Given the description of an element on the screen output the (x, y) to click on. 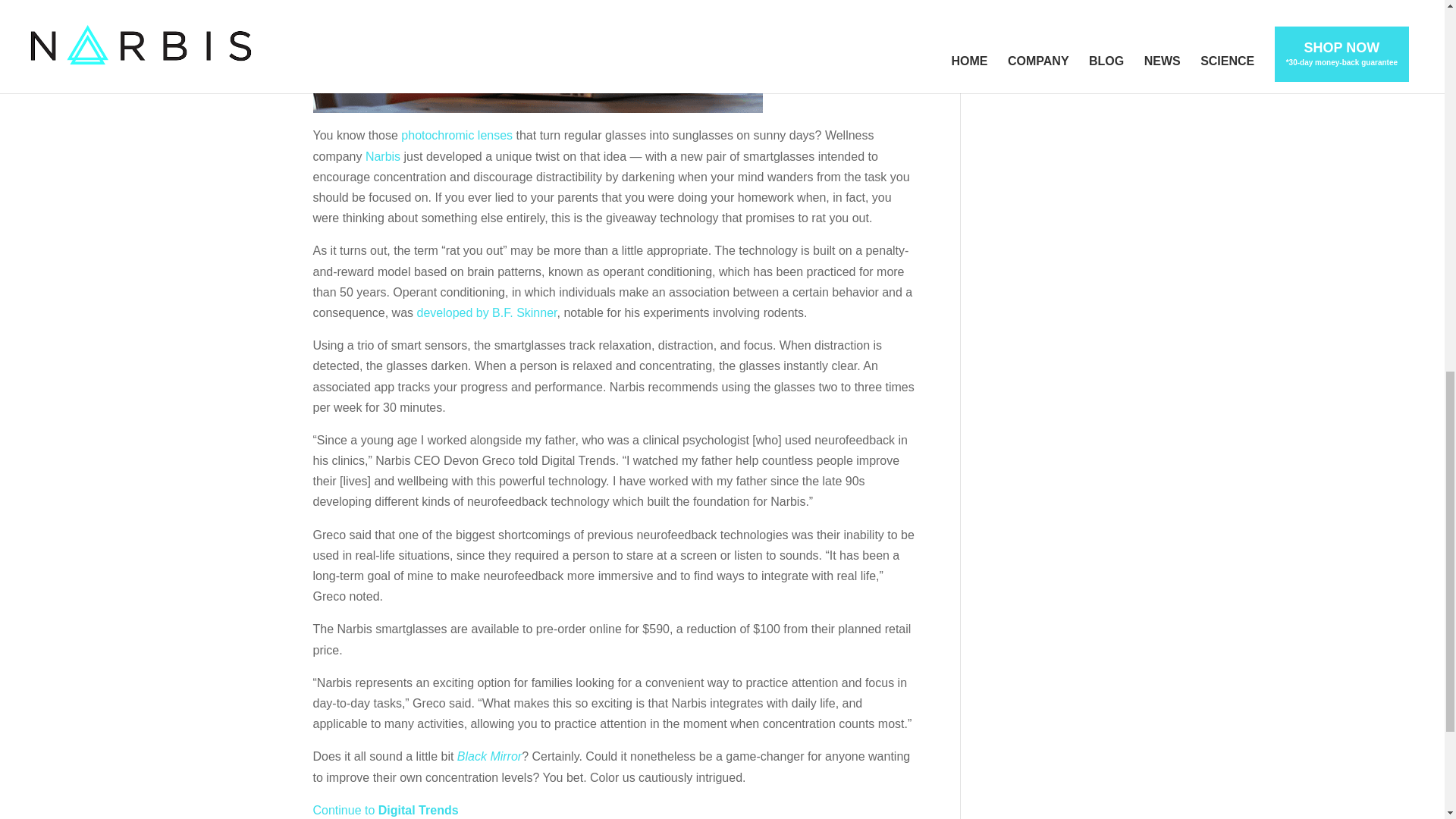
Digital Trends (418, 809)
developed by B.F. Skinner (486, 312)
photochromic lenses (456, 134)
Continue to (345, 809)
Black Mirror (489, 756)
Narbis (382, 155)
